Given the description of an element on the screen output the (x, y) to click on. 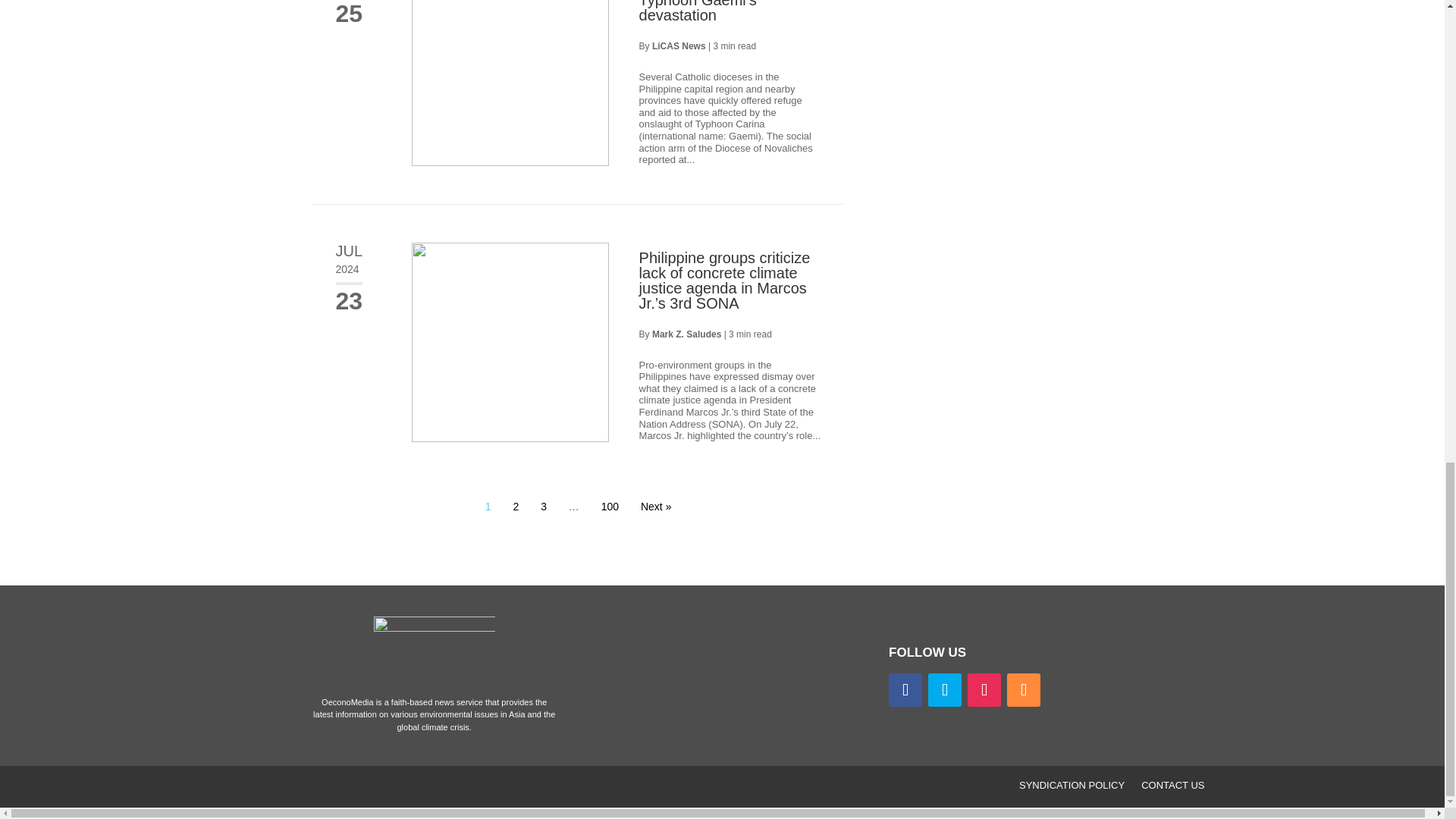
100 (610, 506)
LiCAS News (679, 45)
Follow on RSS (1024, 689)
Posts by LiCAS News (679, 45)
Follow on Facebook (904, 689)
3 (543, 506)
Follow on Twitter (944, 689)
Mark Z. Saludes (686, 334)
Follow on Instagram (984, 689)
Posts by Mark Z. Saludes (686, 334)
2 (515, 506)
